Given the description of an element on the screen output the (x, y) to click on. 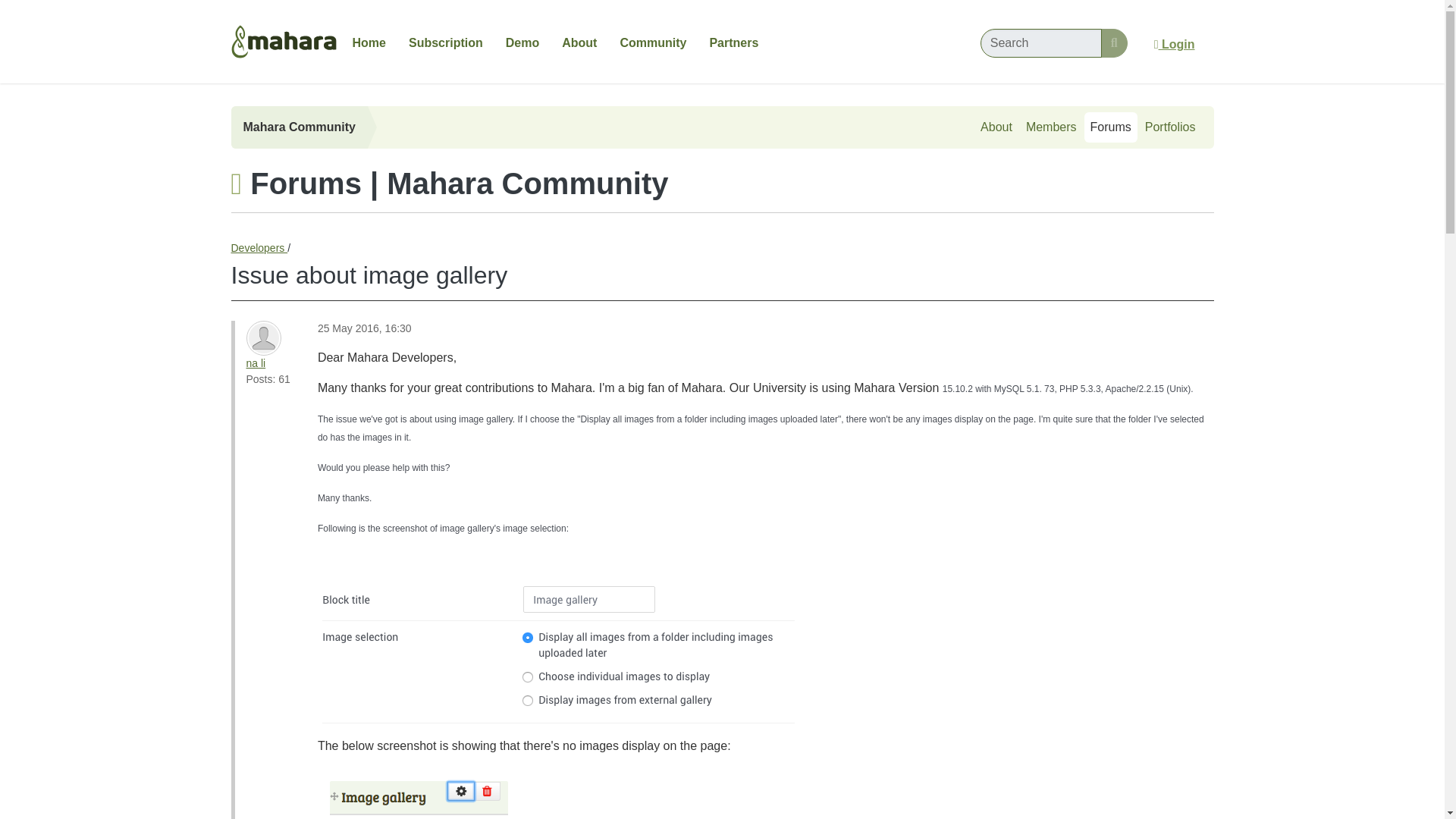
Home (368, 42)
About (579, 42)
Partners (733, 42)
Subscription (446, 42)
Login (1174, 44)
Community (652, 42)
Demo (522, 42)
Go (1113, 42)
